Given the description of an element on the screen output the (x, y) to click on. 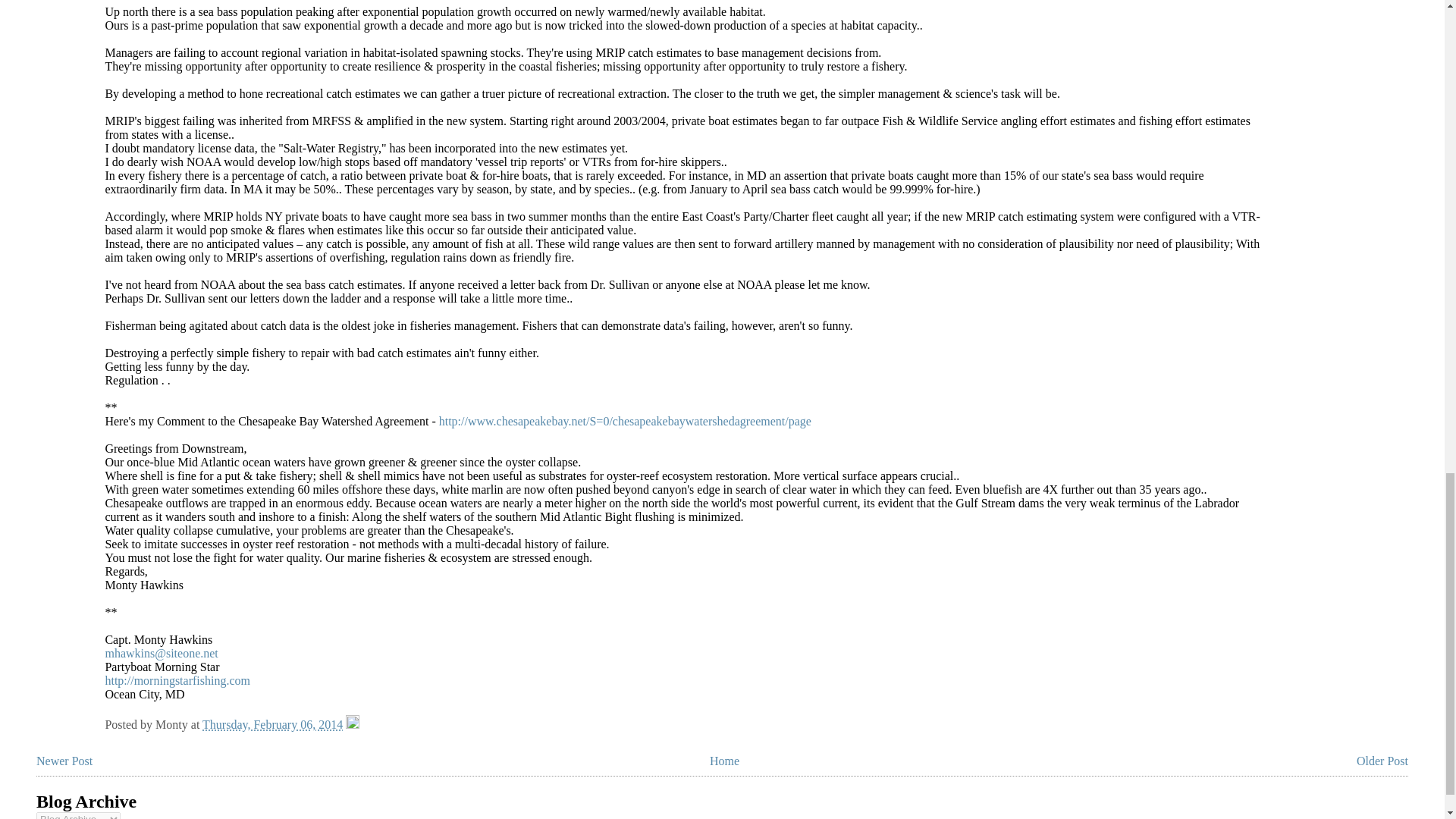
Newer Post (64, 760)
Newer Post (64, 760)
Older Post (1381, 760)
permanent link (272, 724)
Edit Post (352, 724)
Thursday, February 06, 2014 (272, 724)
Older Post (1381, 760)
Home (724, 760)
